Given the description of an element on the screen output the (x, y) to click on. 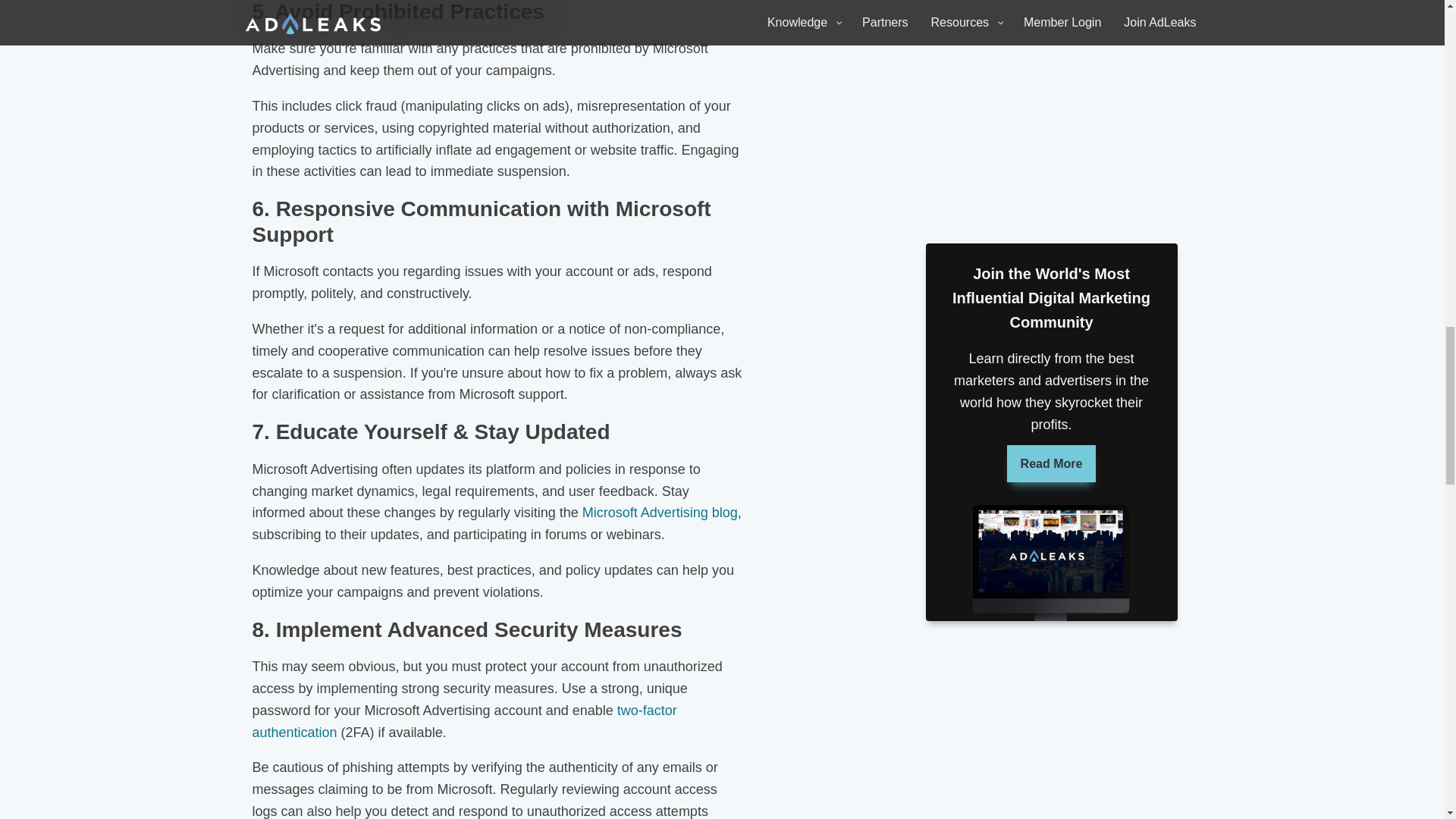
Microsoft Advertising blog (660, 512)
two-factor authentication (464, 721)
